Given the description of an element on the screen output the (x, y) to click on. 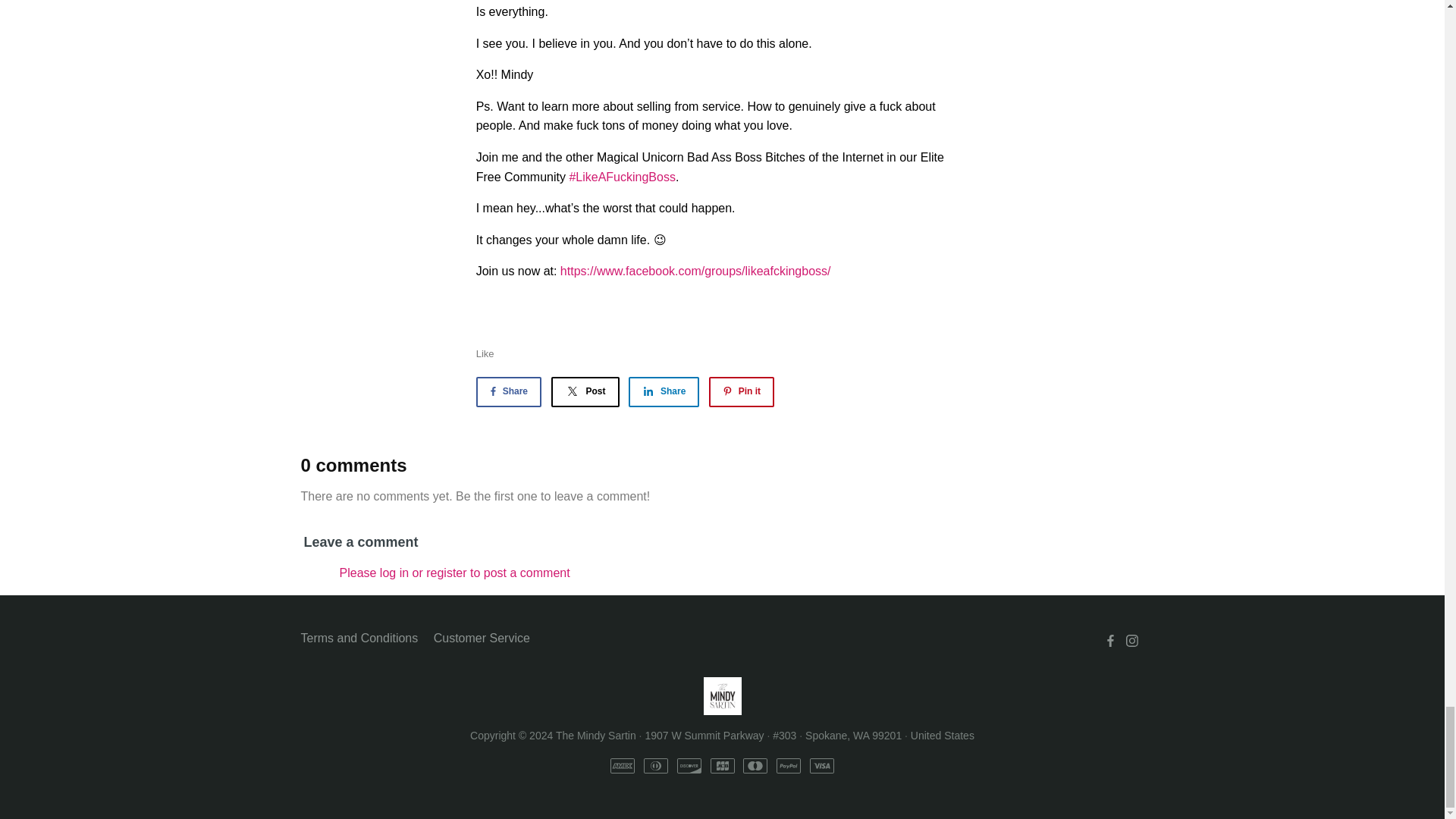
Post on X (584, 391)
Like (485, 353)
Share (663, 391)
Instagram (1130, 640)
Post (584, 391)
Pin it (741, 391)
Please log in or register to post a comment (454, 572)
Pin on Pinterest (741, 391)
Share on LinkedIn (663, 391)
Share (508, 391)
